Given the description of an element on the screen output the (x, y) to click on. 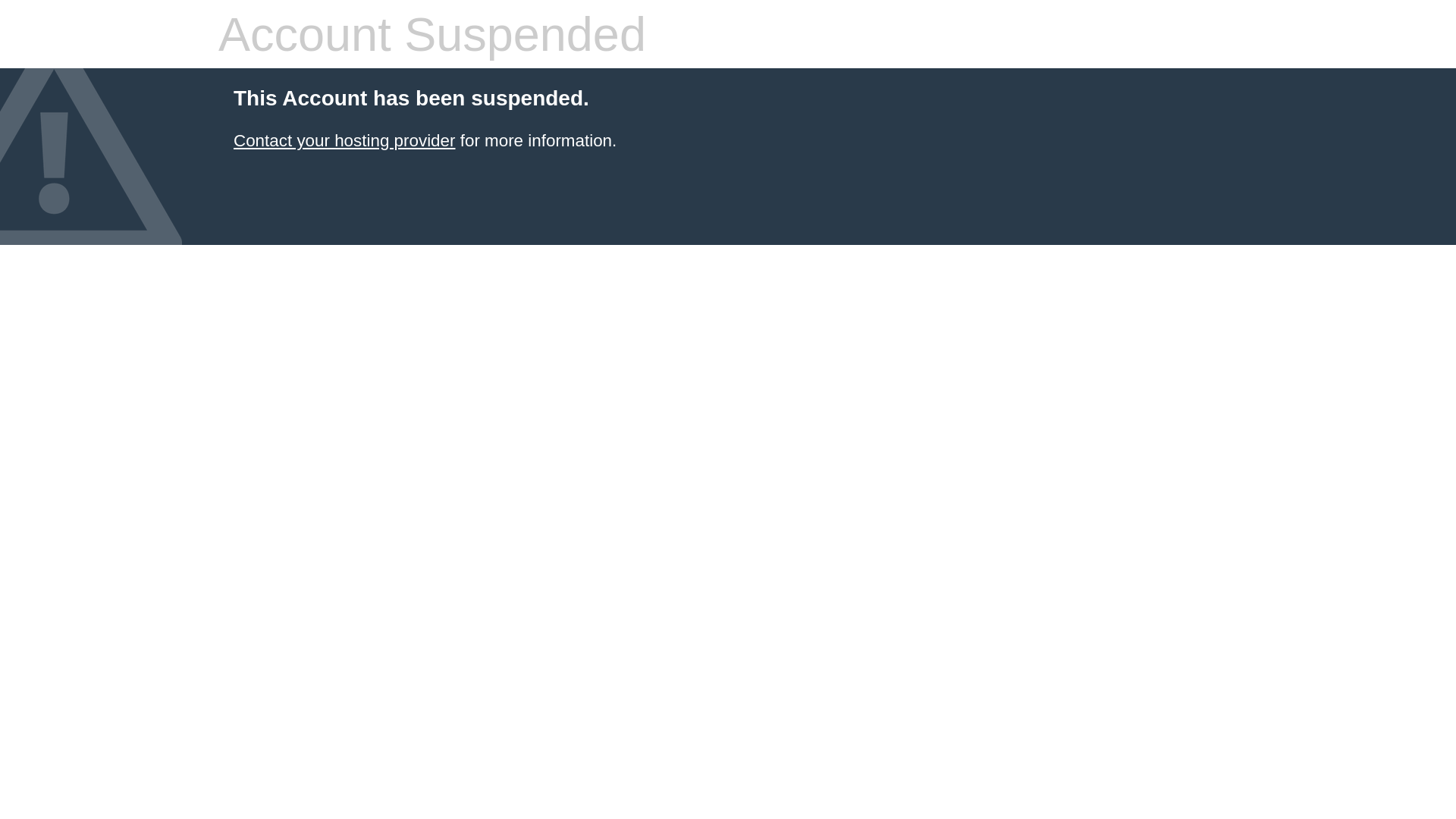
Contact your hosting provider Element type: text (344, 140)
